Given the description of an element on the screen output the (x, y) to click on. 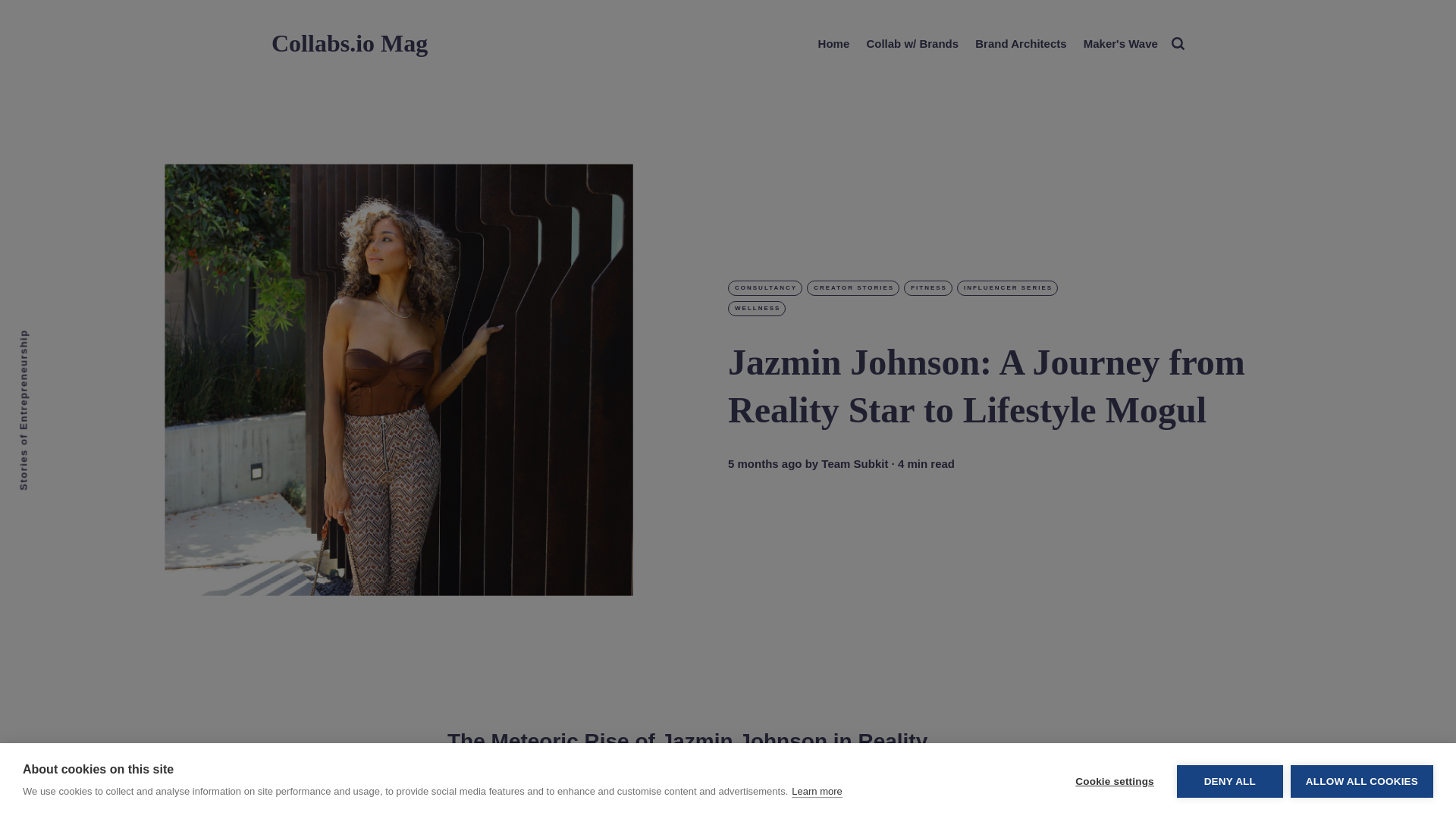
CREATOR STORIES (852, 287)
Collabs.io Mag (349, 43)
FITNESS (928, 287)
Cookie settings (1114, 780)
INFLUENCER SERIES (1007, 287)
Home (833, 43)
Brand Architects (1020, 43)
Team Subkit (854, 463)
Maker's Wave (1119, 43)
WELLNESS (757, 308)
ALLOW ALL COOKIES (1361, 780)
DENY ALL (1229, 780)
CONSULTANCY (765, 287)
Learn more (816, 791)
